Given the description of an element on the screen output the (x, y) to click on. 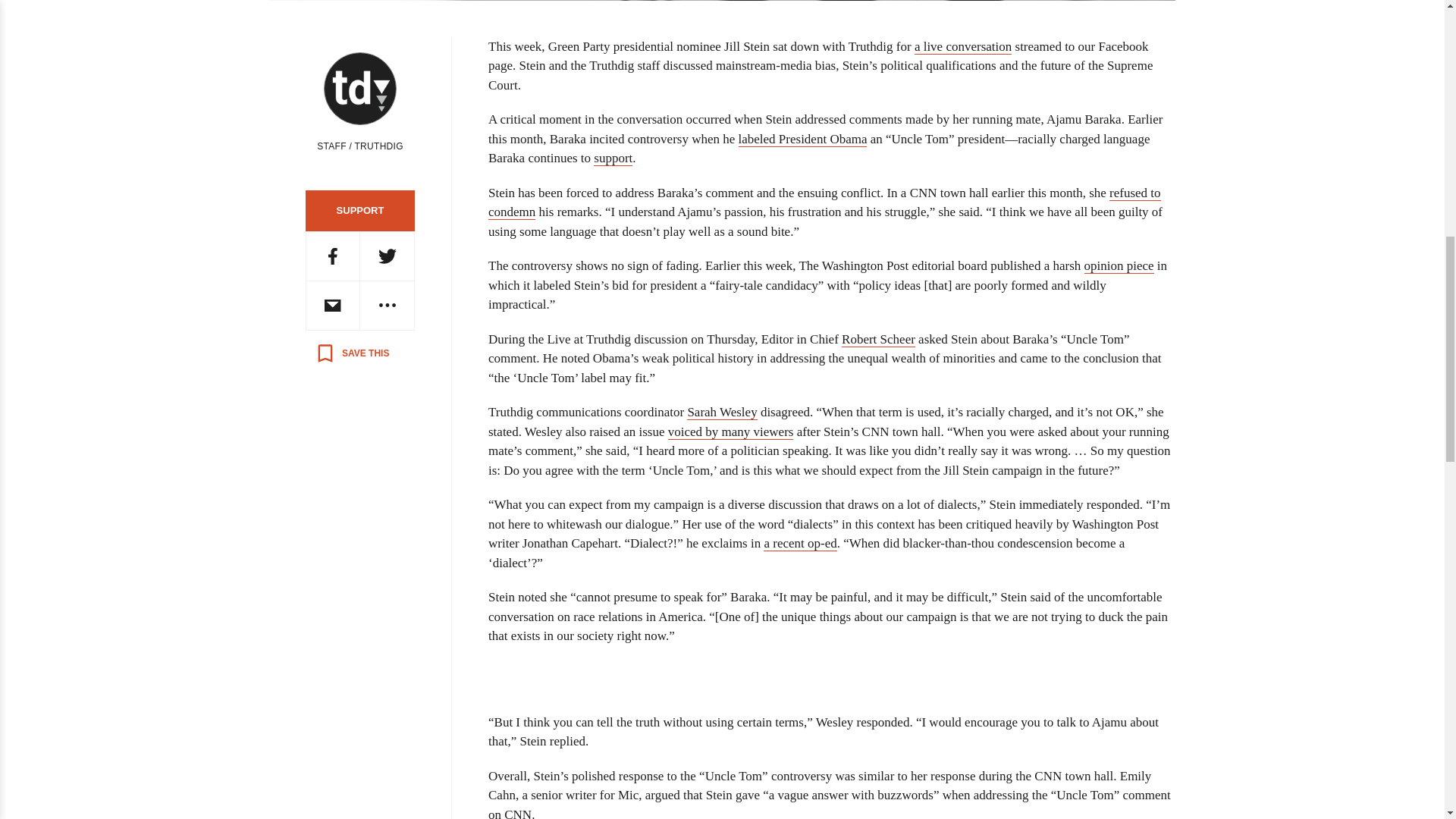
Sarah Wesley (722, 412)
Robert Scheer (878, 339)
Save to read later (351, 352)
